Given the description of an element on the screen output the (x, y) to click on. 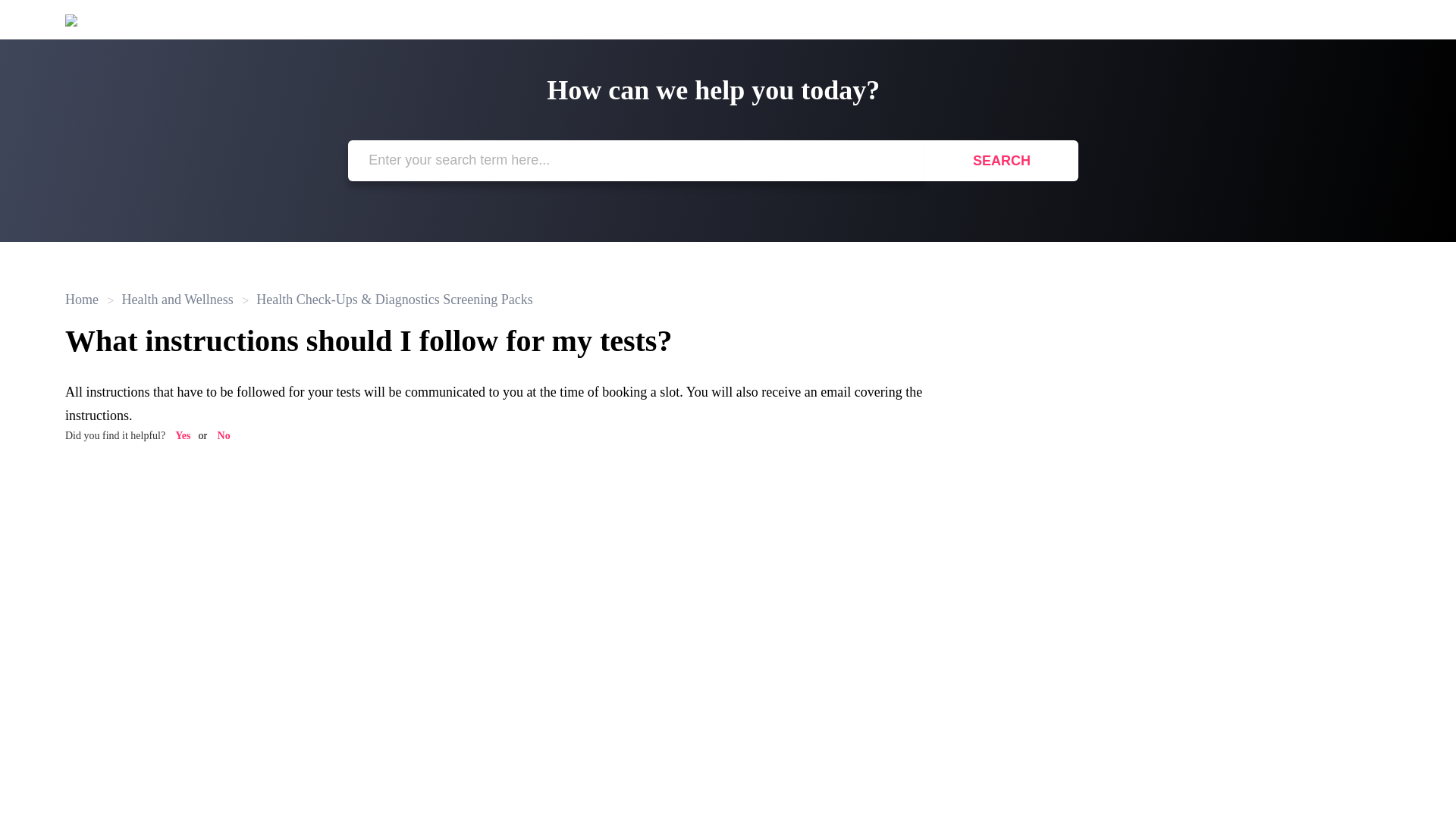
Health and Wellness (169, 299)
SEARCH (1001, 160)
Home (83, 299)
